Given the description of an element on the screen output the (x, y) to click on. 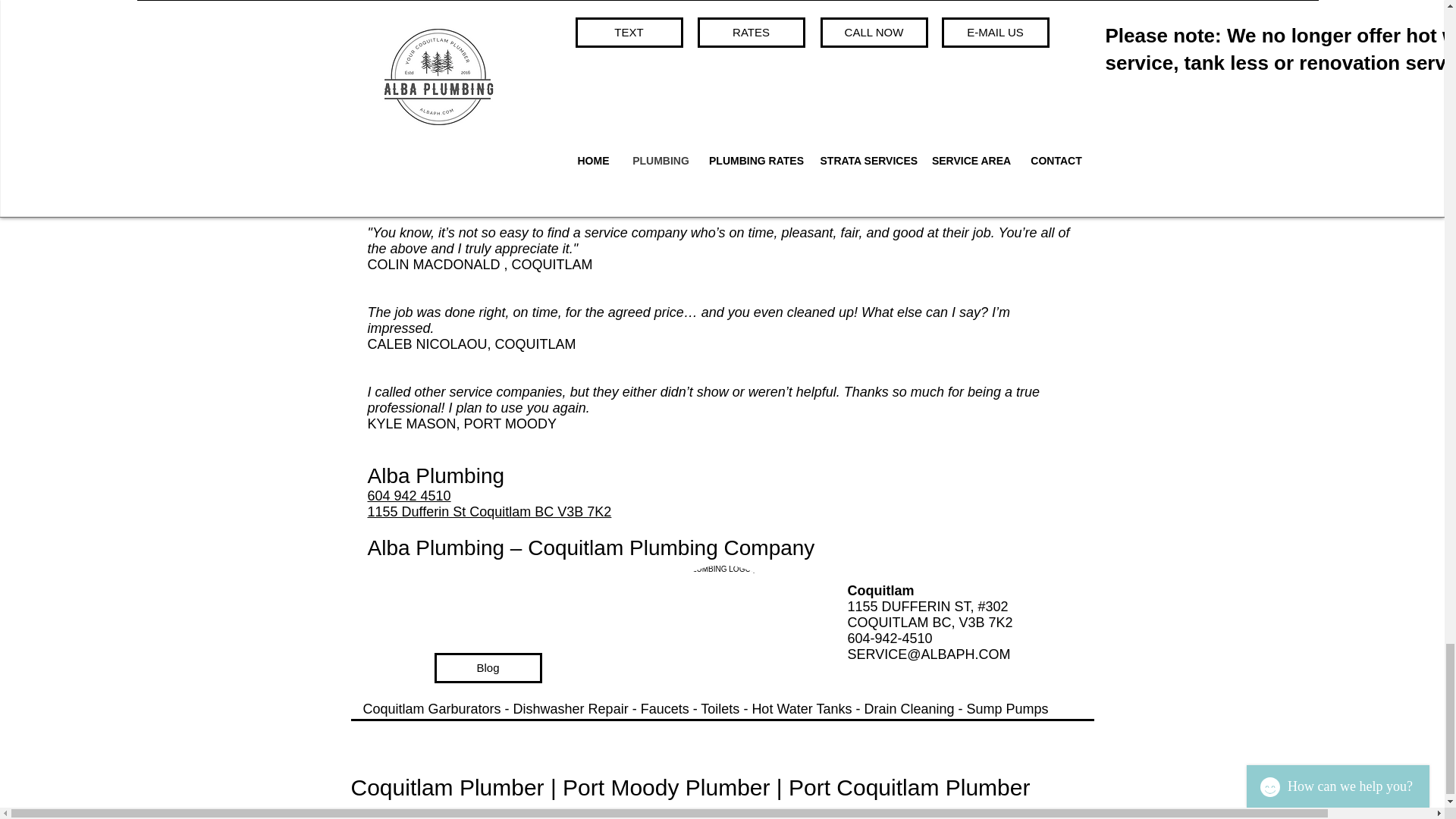
Coquitlam Garburators (431, 708)
Blog (487, 667)
1155 Dufferin St Coquitlam BC V3B 7K2 (488, 511)
